Given the description of an element on the screen output the (x, y) to click on. 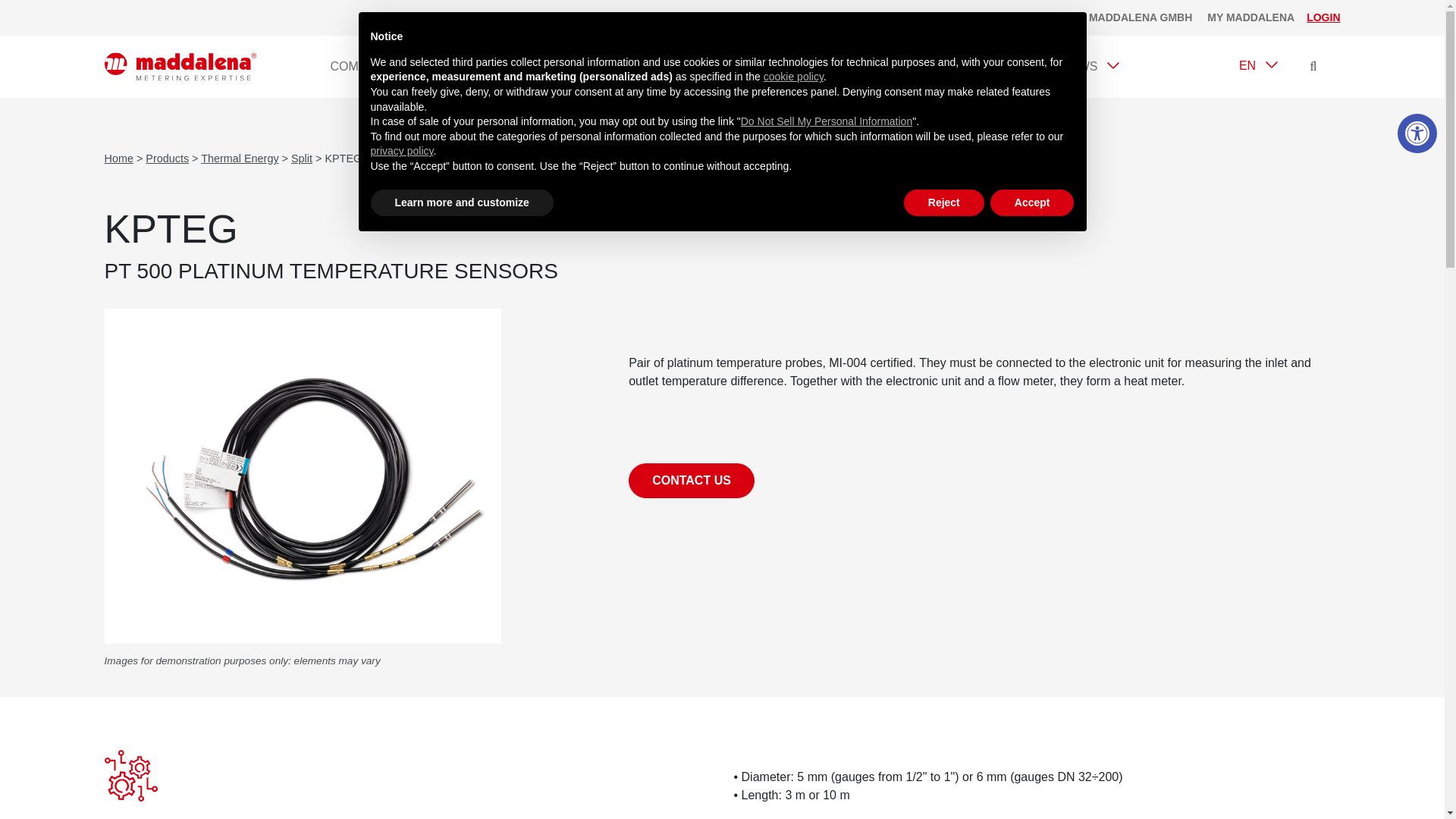
CONTACTS (855, 66)
ACCREDITED LABORATORY (714, 66)
LOGIN (1322, 17)
MADDALENA GMBH (1140, 17)
NEWS (1088, 66)
EN (1257, 65)
MY MADDALENA (1250, 17)
SUSTAINABILITY (975, 66)
COMPANY (370, 66)
QUALITY (1417, 133)
Accessibility Tools (579, 66)
Vai alla homepage (1417, 133)
PRODUCTS (180, 66)
Accessibility Tools (482, 66)
